Given the description of an element on the screen output the (x, y) to click on. 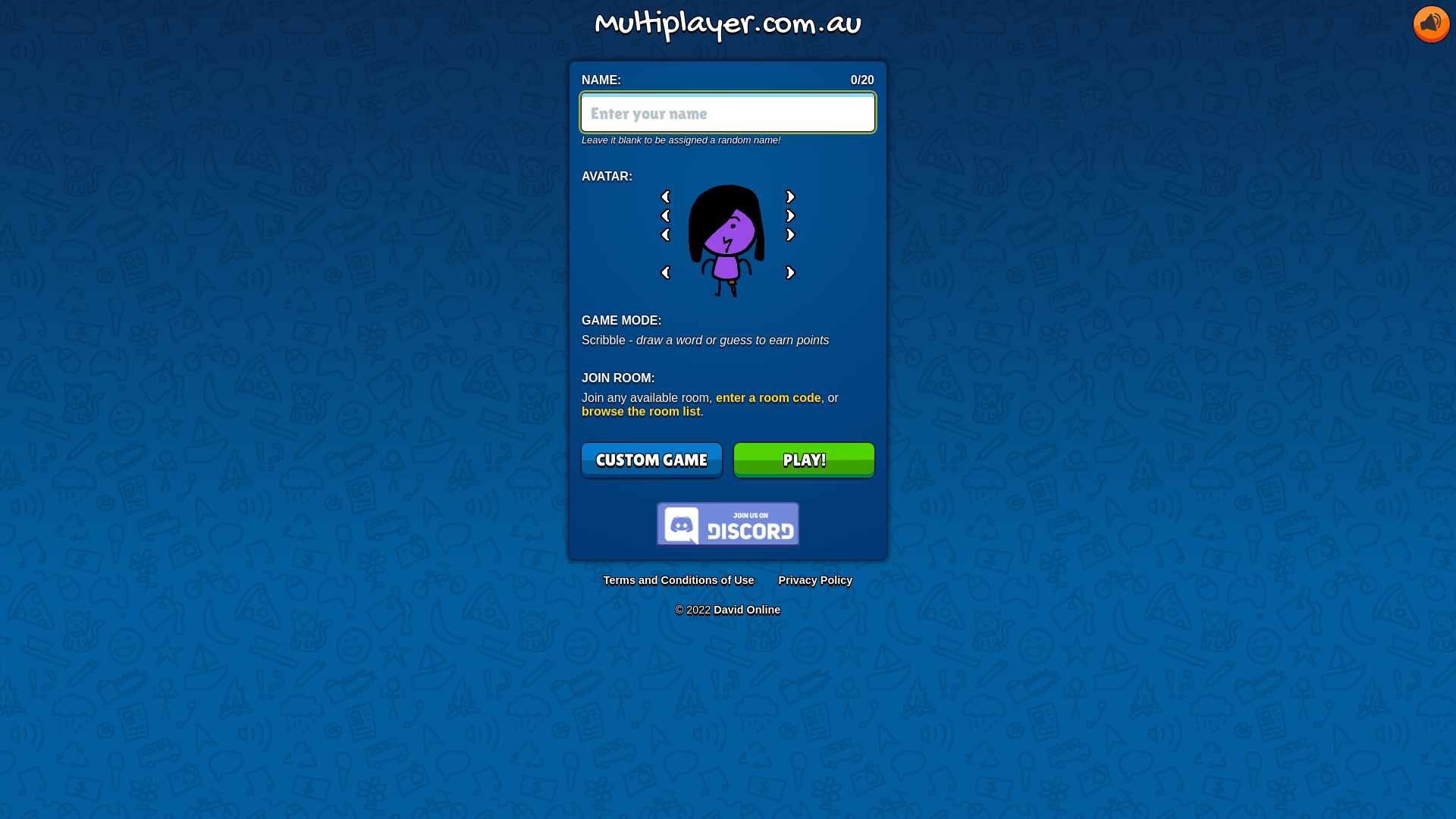
> Element type: text (790, 234)
enter a room code Element type: text (768, 397)
> Element type: text (790, 196)
Privacy Policy Element type: text (815, 580)
< Element type: text (665, 272)
PLAY! Element type: text (804, 459)
CUSTOM GAME Element type: text (651, 459)
< Element type: text (665, 234)
browse the room list Element type: text (640, 410)
> Element type: text (790, 215)
Multiplayer.com.au Element type: text (727, 24)
> Element type: text (790, 272)
David Online Element type: text (746, 609)
< Element type: text (665, 196)
Terms and Conditions of Use Element type: text (678, 580)
< Element type: text (665, 215)
